Given the description of an element on the screen output the (x, y) to click on. 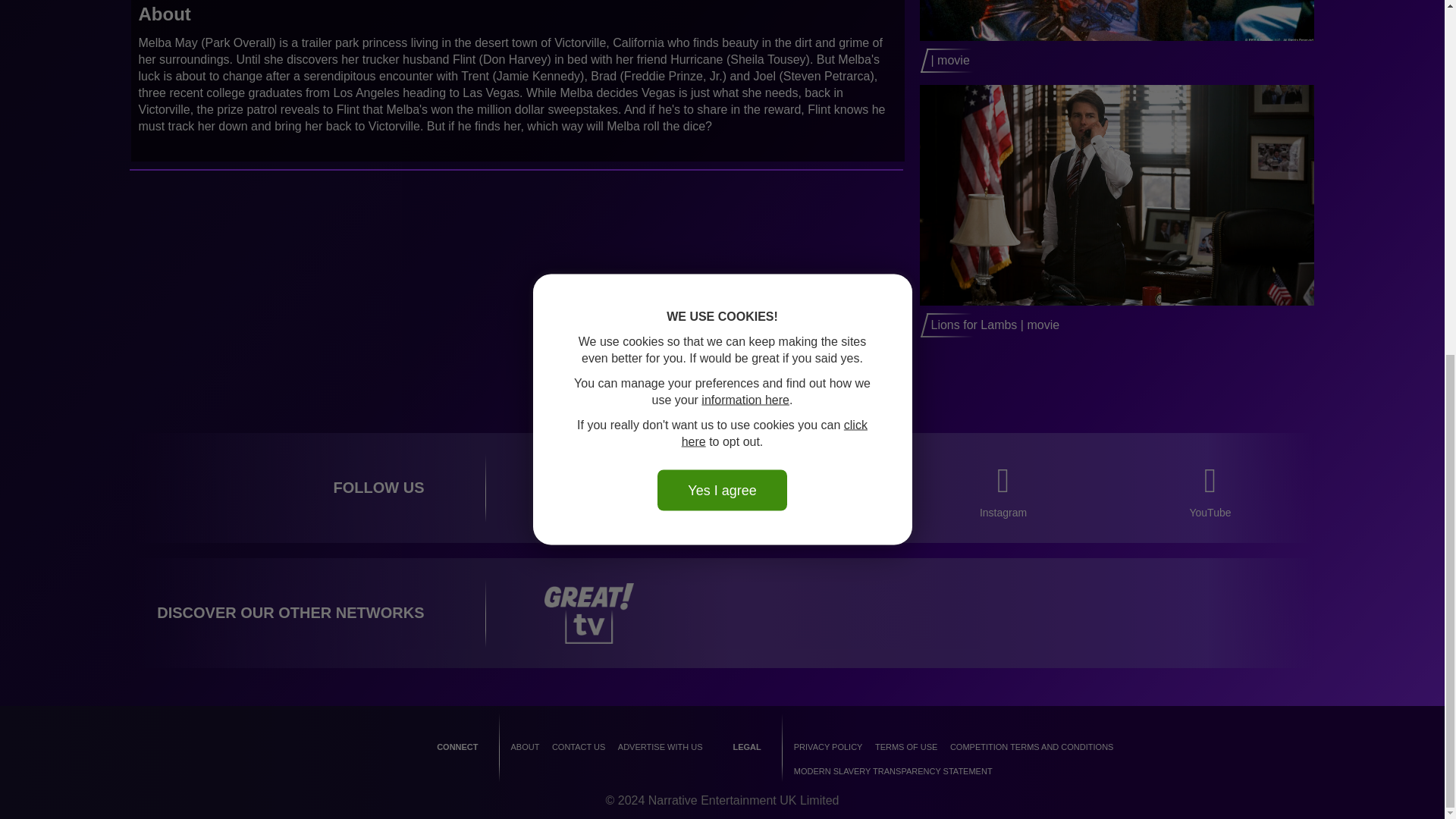
TERMS OF USE (906, 746)
ABOUT (525, 746)
PRIVACY POLICY (828, 746)
YouTube (1210, 492)
CONTACT US (578, 746)
MODERN SLAVERY TRANSPARENCY STATEMENT (892, 770)
Facebook (588, 492)
COMPETITION TERMS AND CONDITIONS (1031, 746)
ADVERTISE WITH US (660, 746)
Instagram (1002, 492)
